Given the description of an element on the screen output the (x, y) to click on. 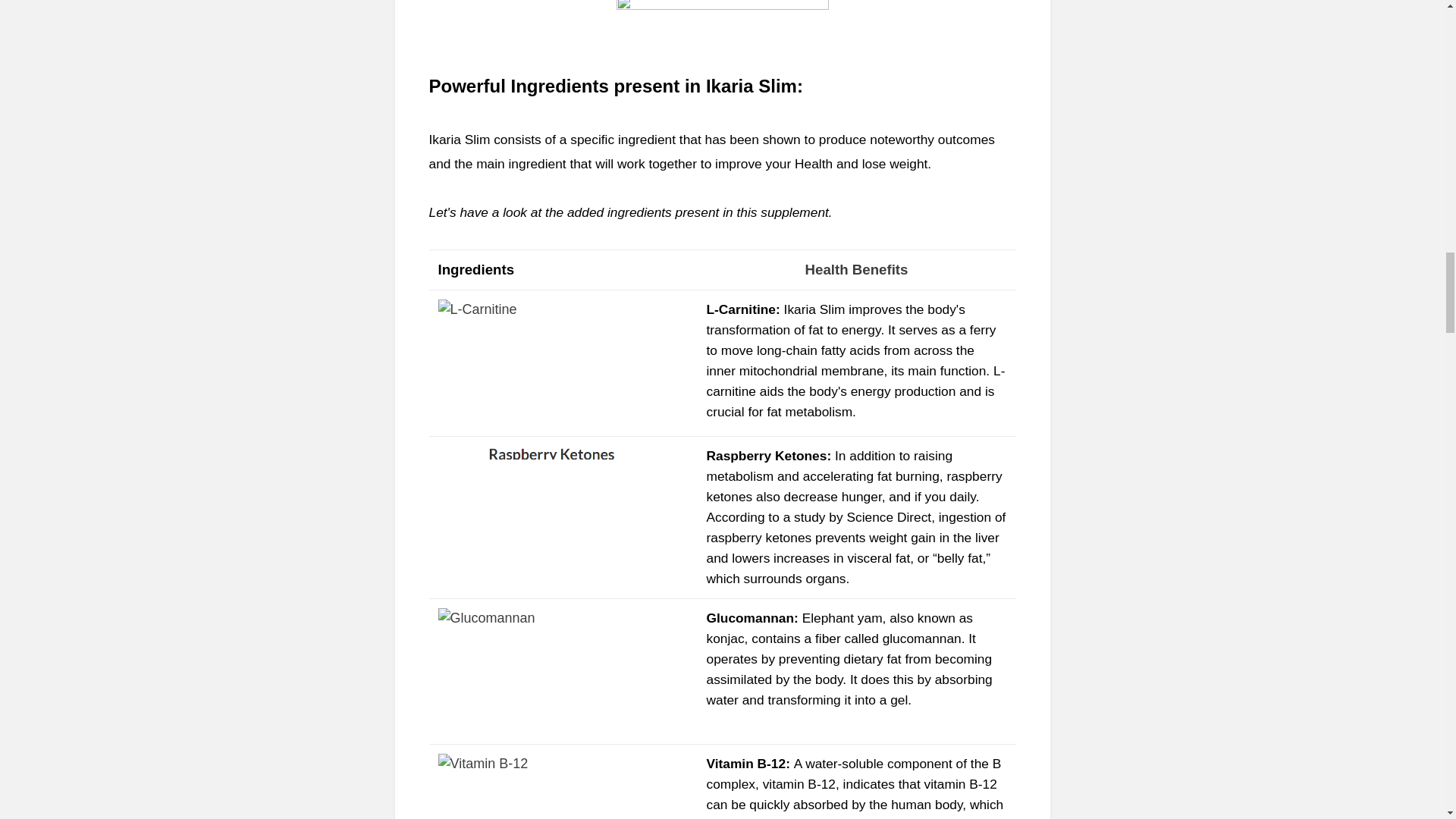
Raspberry Ketones (766, 455)
L-Carnitine (741, 309)
Glucomannan (750, 617)
Vitamin B-12 (746, 763)
